Given the description of an element on the screen output the (x, y) to click on. 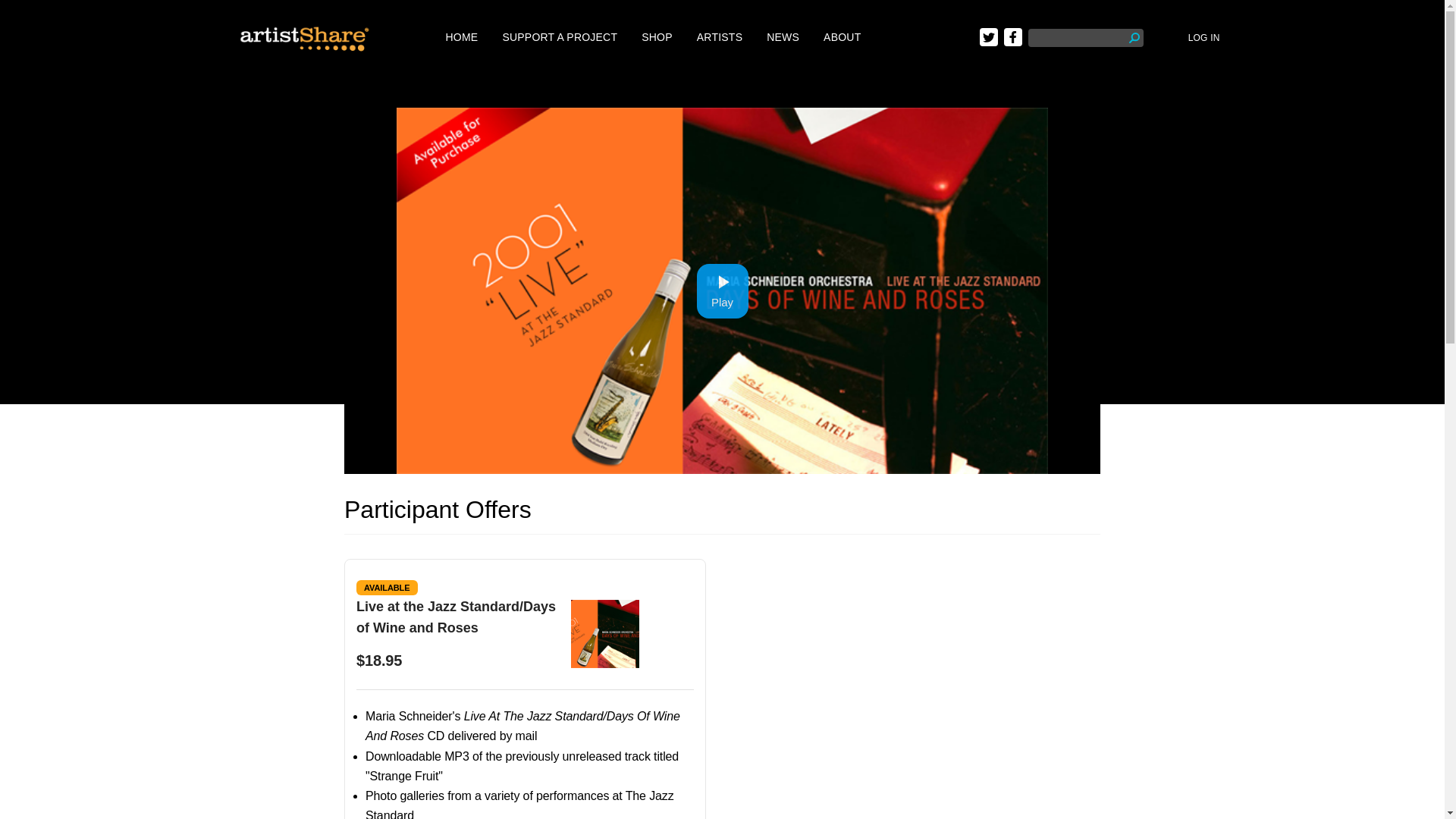
LOG IN (1204, 37)
Play Video (721, 290)
Play Video (721, 290)
SUPPORT A PROJECT (559, 37)
NEWS (783, 37)
ARTISTS (719, 37)
SHOP (657, 37)
ABOUT (842, 37)
HOME (462, 37)
